Given the description of an element on the screen output the (x, y) to click on. 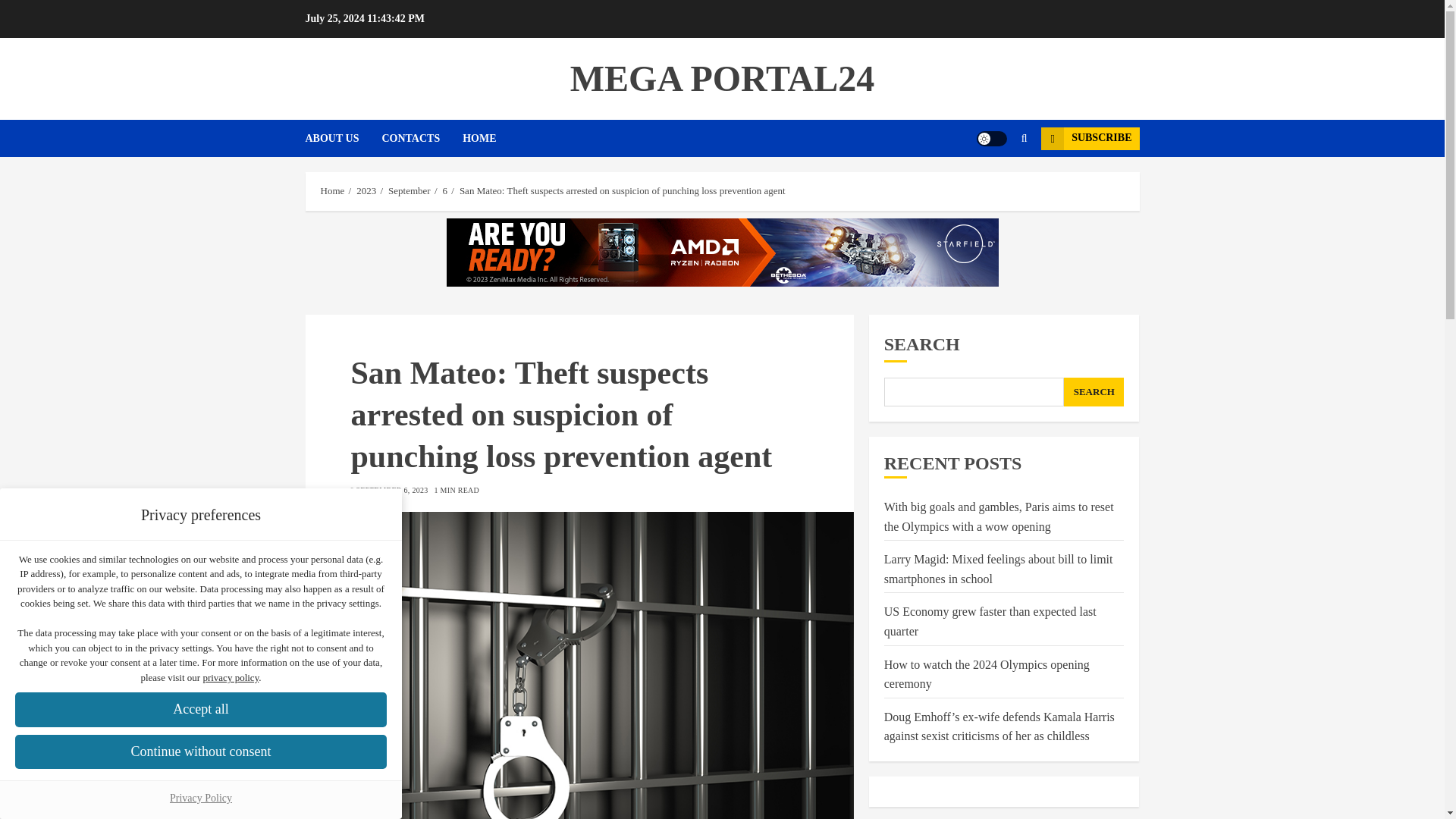
Search (994, 184)
CONTACTS (422, 138)
MEGA PORTAL24 (722, 78)
Home (331, 191)
HOME (479, 138)
ABOUT US (342, 138)
How to watch the 2024 Olympics opening ceremony (986, 674)
September (409, 191)
SUBSCRIBE (1089, 138)
SEARCH (1094, 391)
SEPTEMBER 6, 2023 (391, 490)
US Economy grew faster than expected last quarter (989, 621)
